Given the description of an element on the screen output the (x, y) to click on. 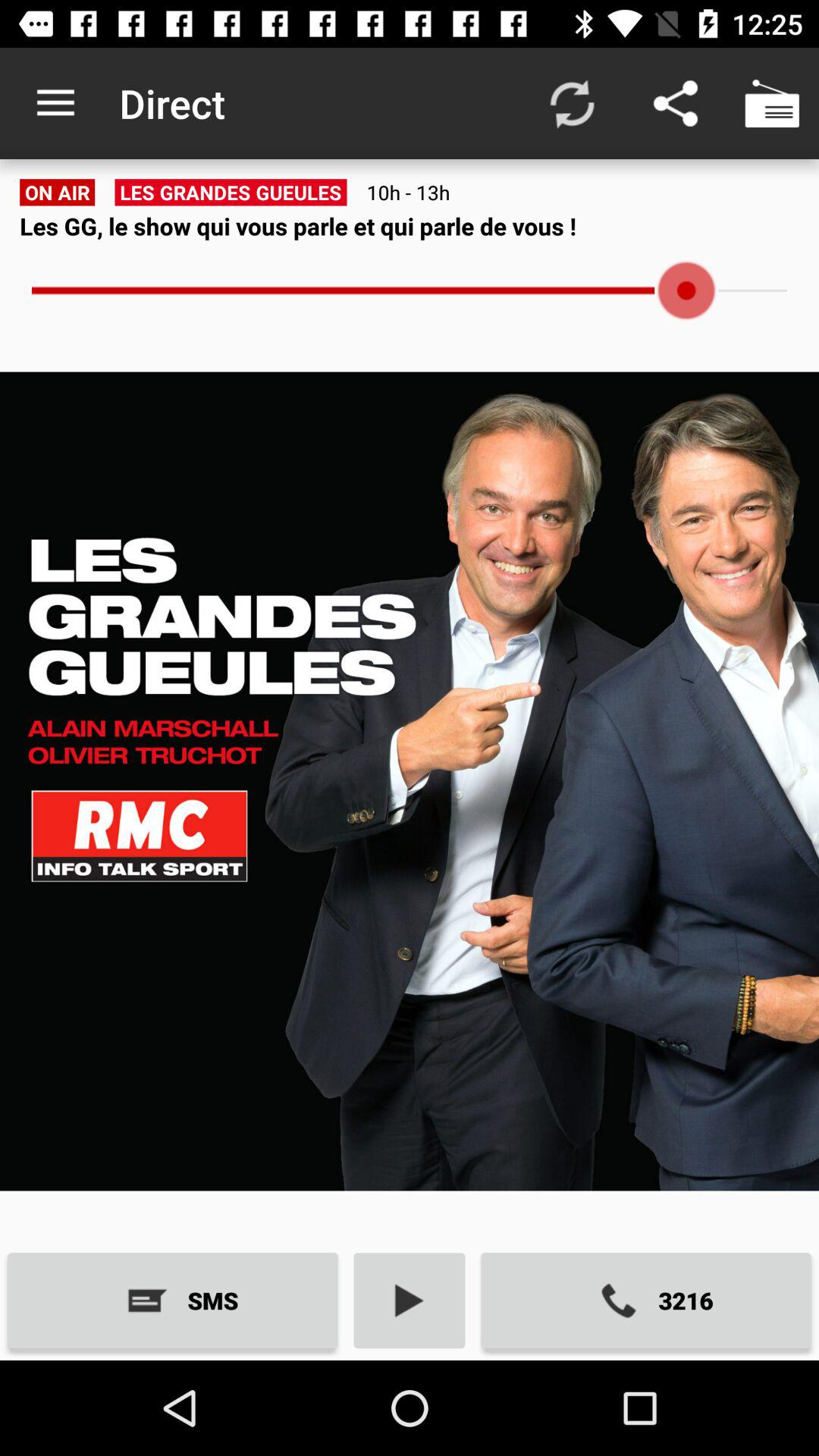
choose item to the left of the 3216 item (409, 1300)
